Given the description of an element on the screen output the (x, y) to click on. 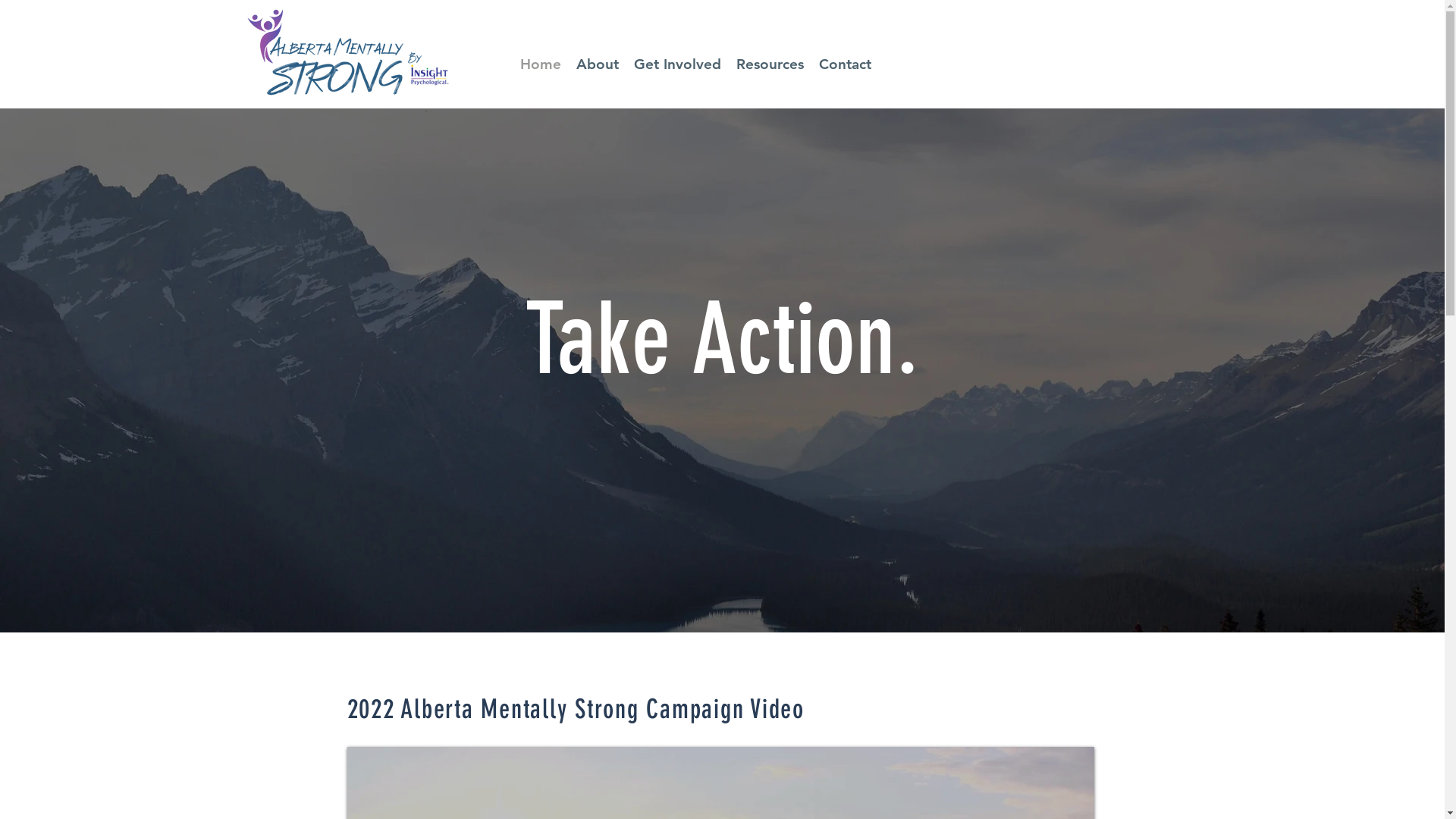
Home Element type: text (540, 64)
About Element type: text (597, 64)
Resources Element type: text (769, 64)
2022 Alberta Mentally Strong Campaign Video Element type: text (575, 708)
Get Involved Element type: text (677, 64)
Contact Element type: text (844, 64)
